Given the description of an element on the screen output the (x, y) to click on. 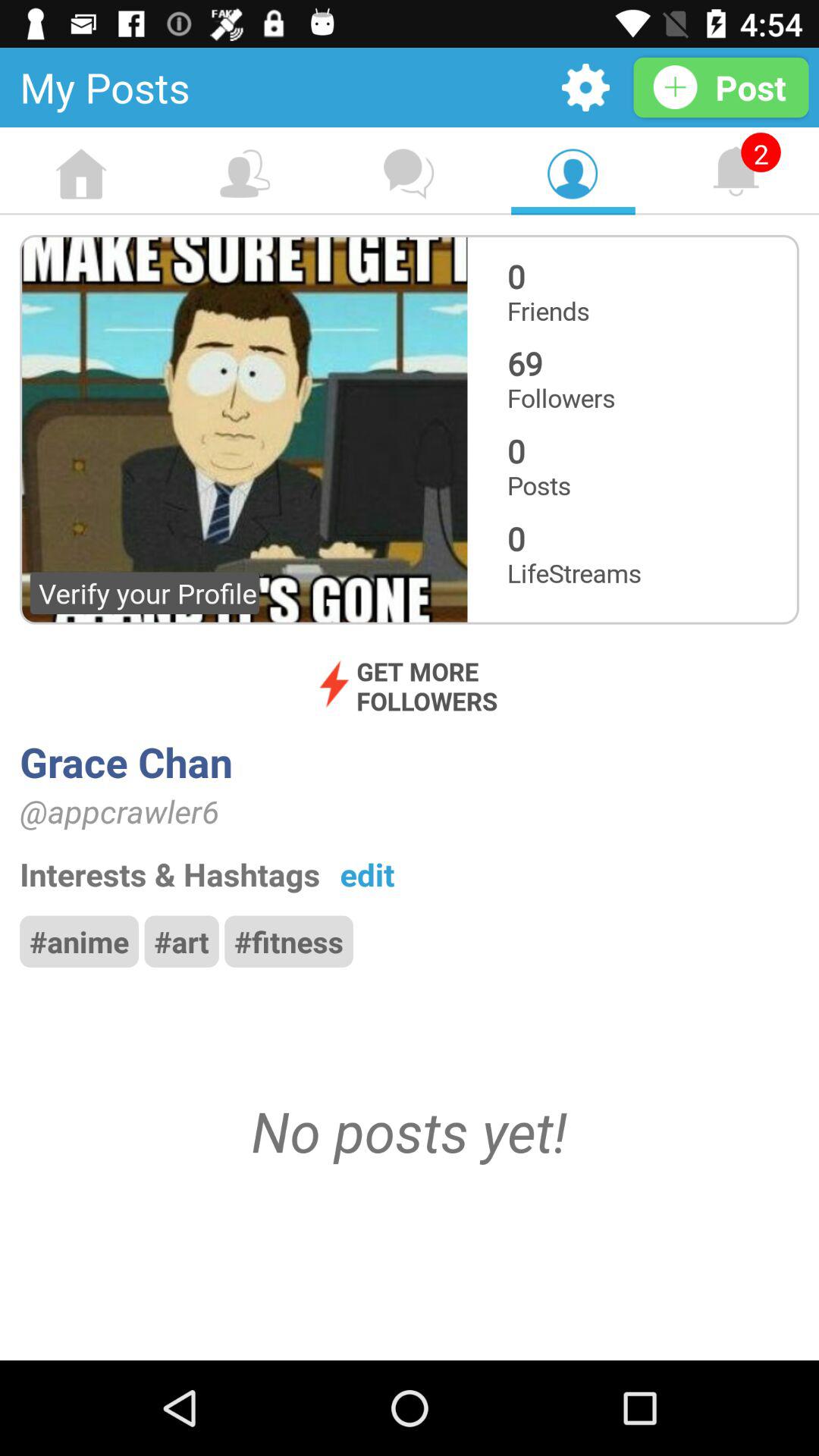
swipe until #anime app (78, 941)
